Given the description of an element on the screen output the (x, y) to click on. 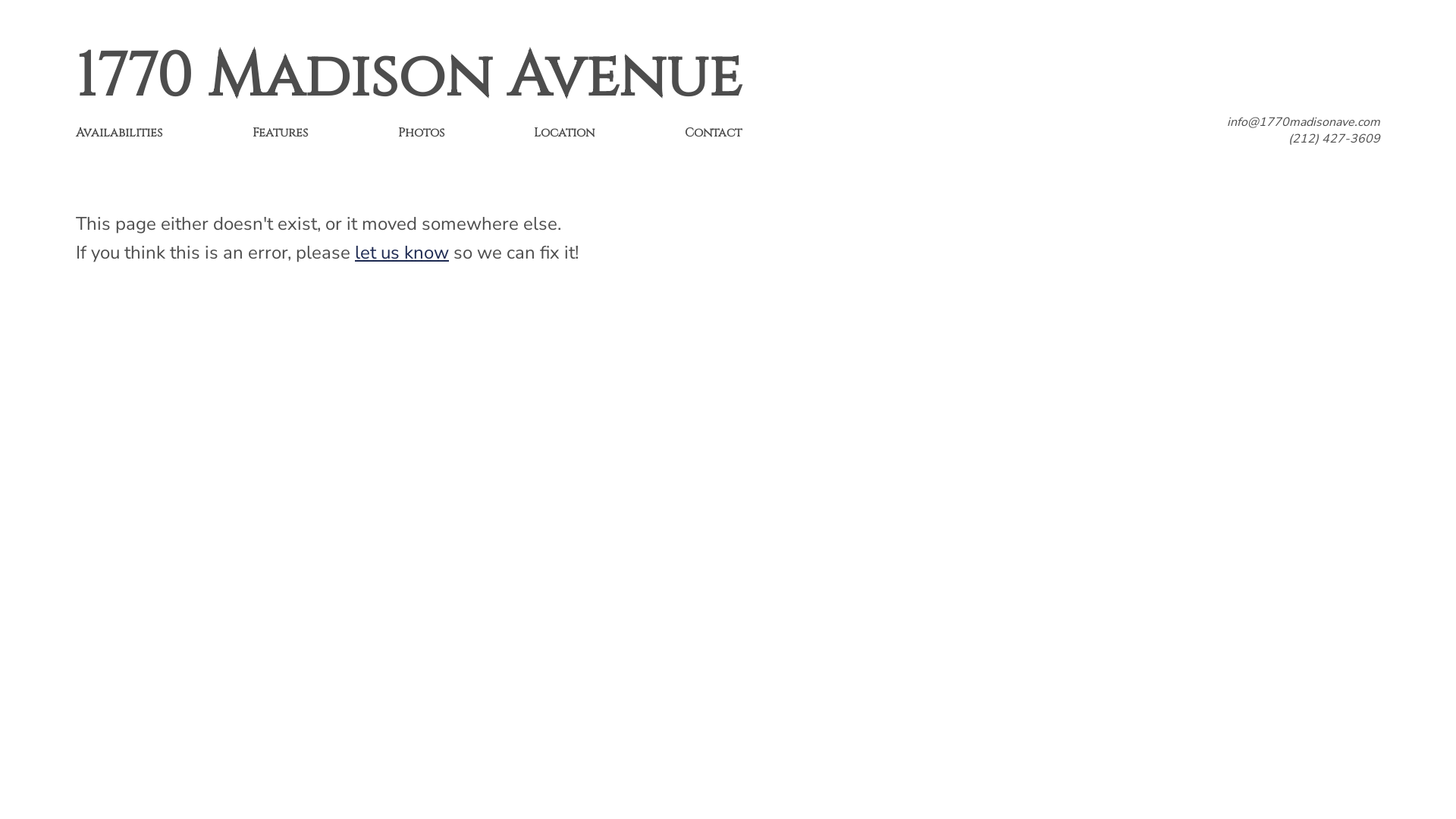
let us know Element type: text (401, 252)
1770 Madison Avenue Element type: text (408, 77)
Contact Element type: text (712, 132)
Location Element type: text (563, 132)
Availabilities Element type: text (118, 132)
Photos Element type: text (420, 132)
Features Element type: text (279, 132)
